Given the description of an element on the screen output the (x, y) to click on. 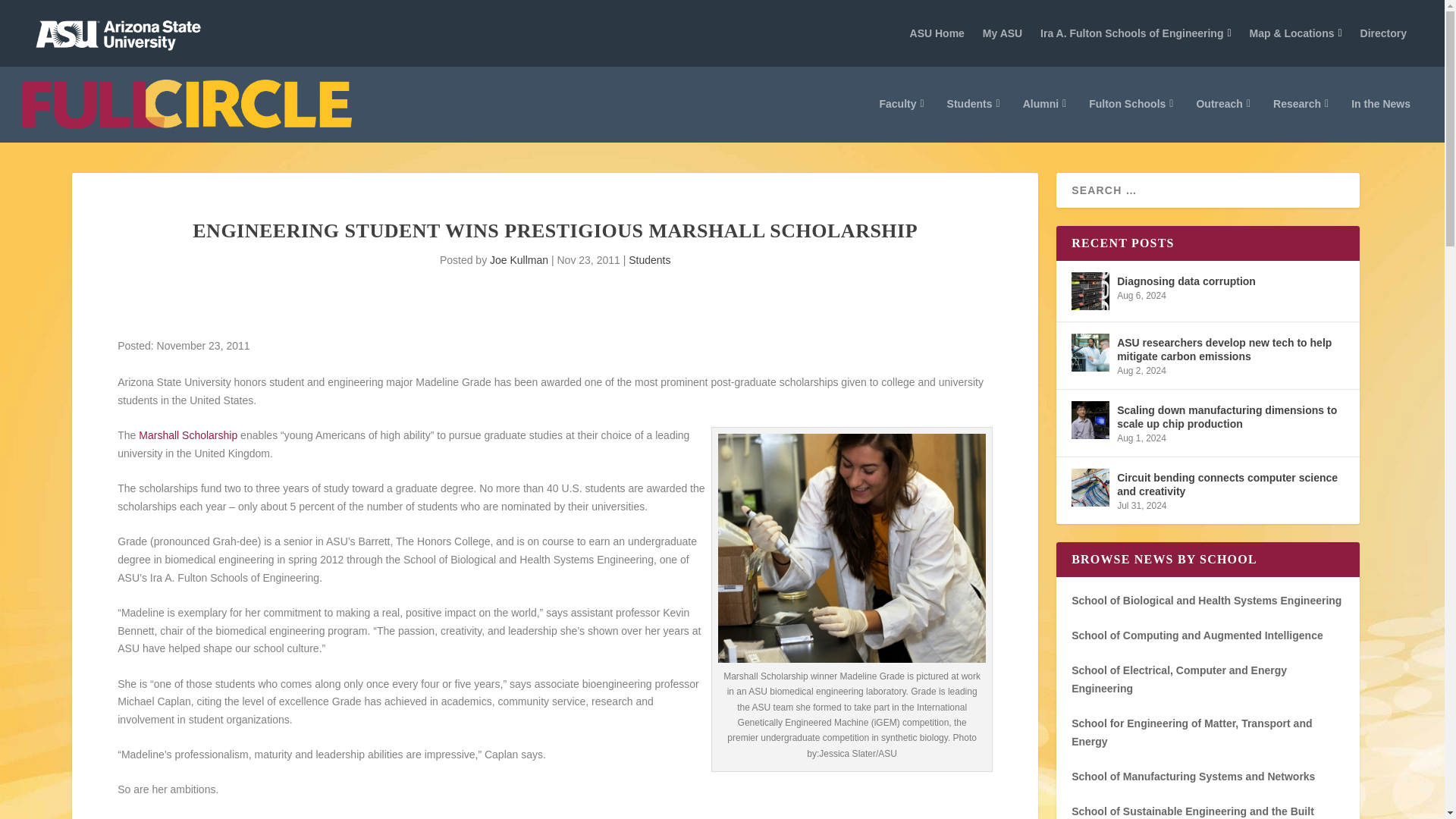
RECENT (1192, 147)
My ASU (1002, 33)
Ira A. Fulton Schools of Engineering (1136, 33)
Directory (1382, 33)
Faculty (901, 119)
Students (973, 119)
ASU Home (936, 33)
